Given the description of an element on the screen output the (x, y) to click on. 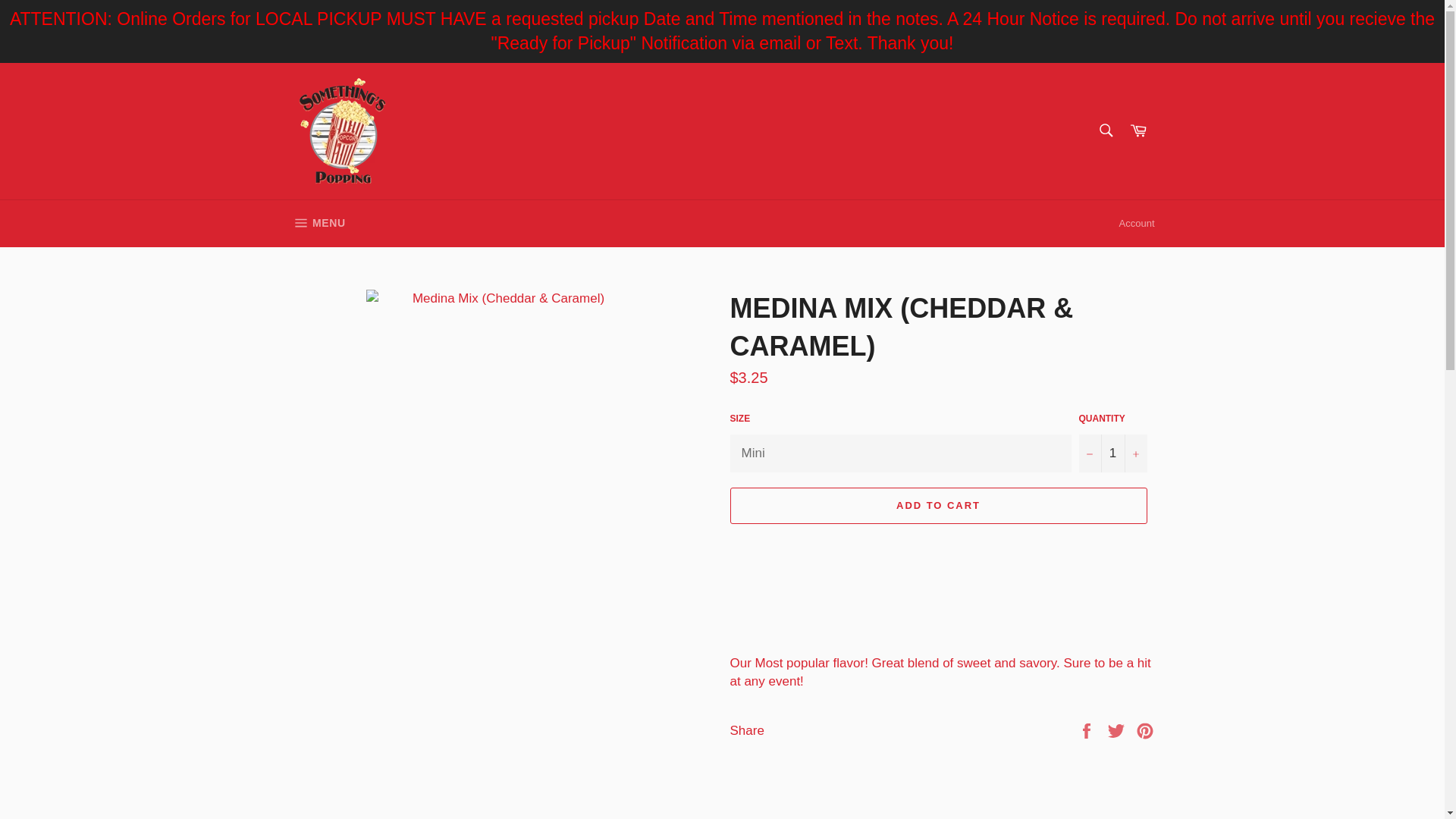
Account (1136, 223)
Tweet on Twitter (1117, 729)
Pin on Pinterest (1144, 729)
Cart (1138, 131)
Tweet on Twitter (1117, 729)
Share on Facebook (1088, 729)
1 (317, 223)
Search (1112, 452)
Share on Facebook (1104, 130)
